Given the description of an element on the screen output the (x, y) to click on. 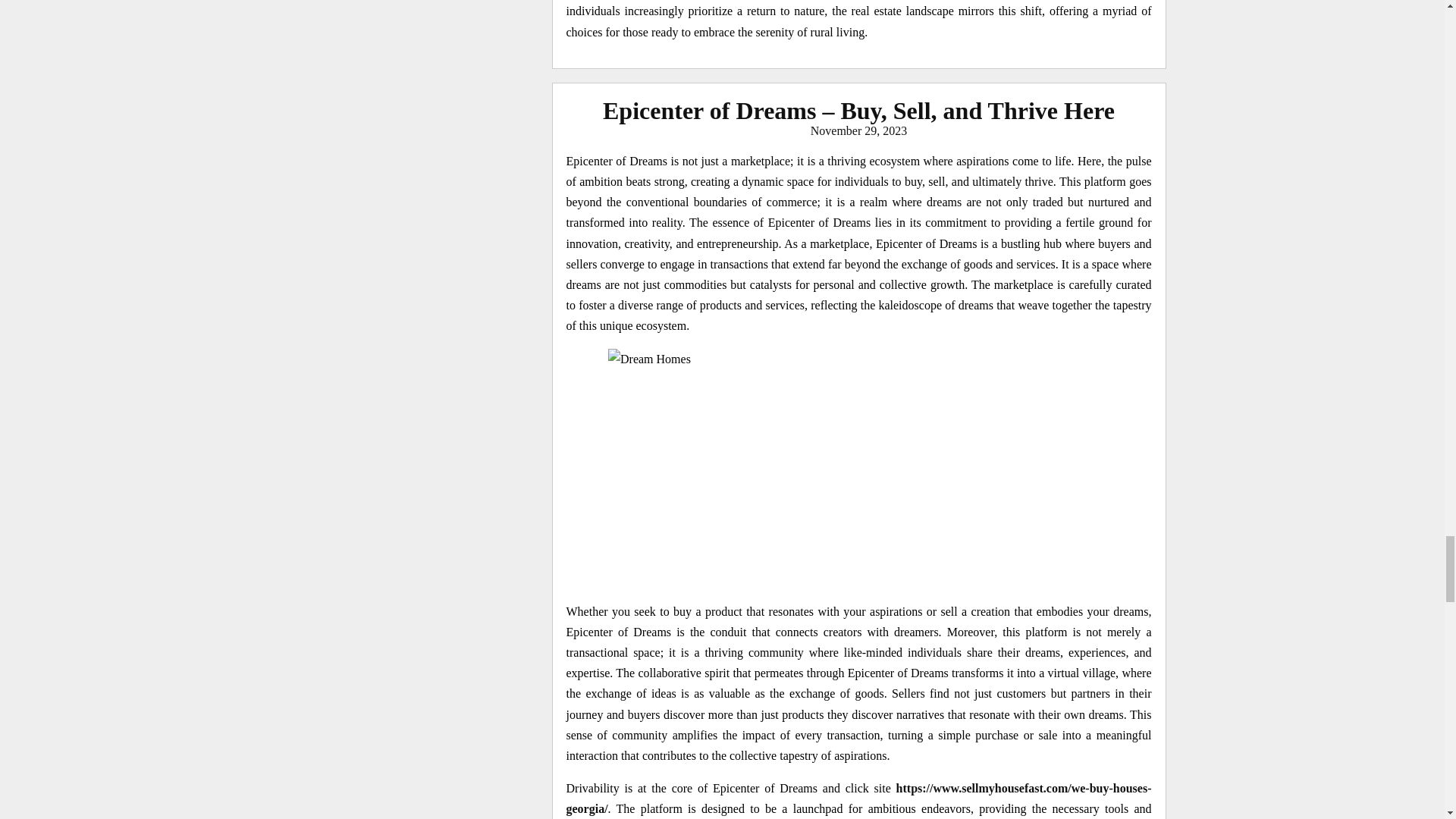
November 29, 2023 (858, 130)
